Given the description of an element on the screen output the (x, y) to click on. 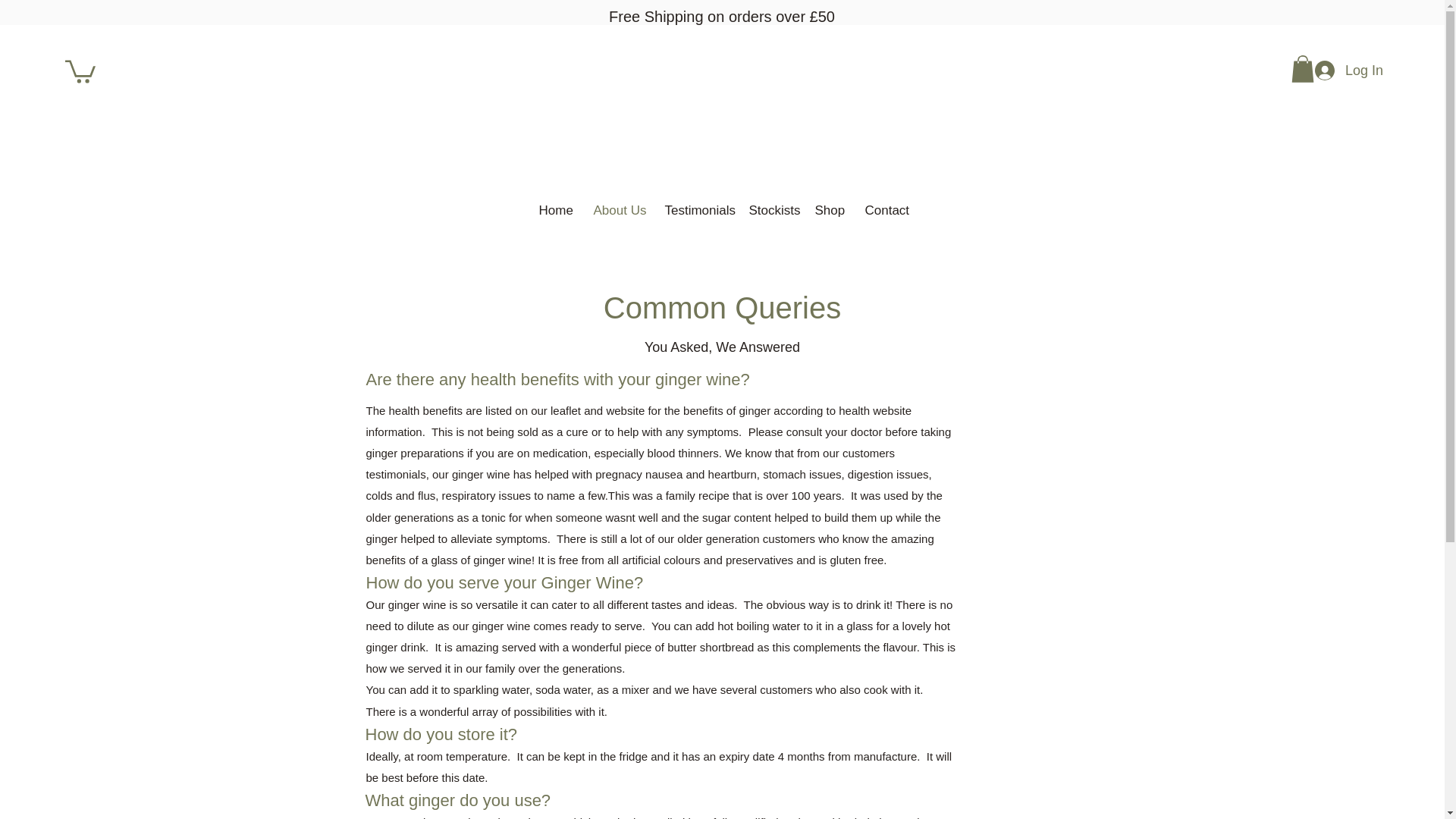
Contact (885, 210)
Testimonials (694, 210)
Log In (1347, 70)
About Us (616, 210)
Home (553, 210)
Stockists (769, 210)
Shop (828, 210)
